Given the description of an element on the screen output the (x, y) to click on. 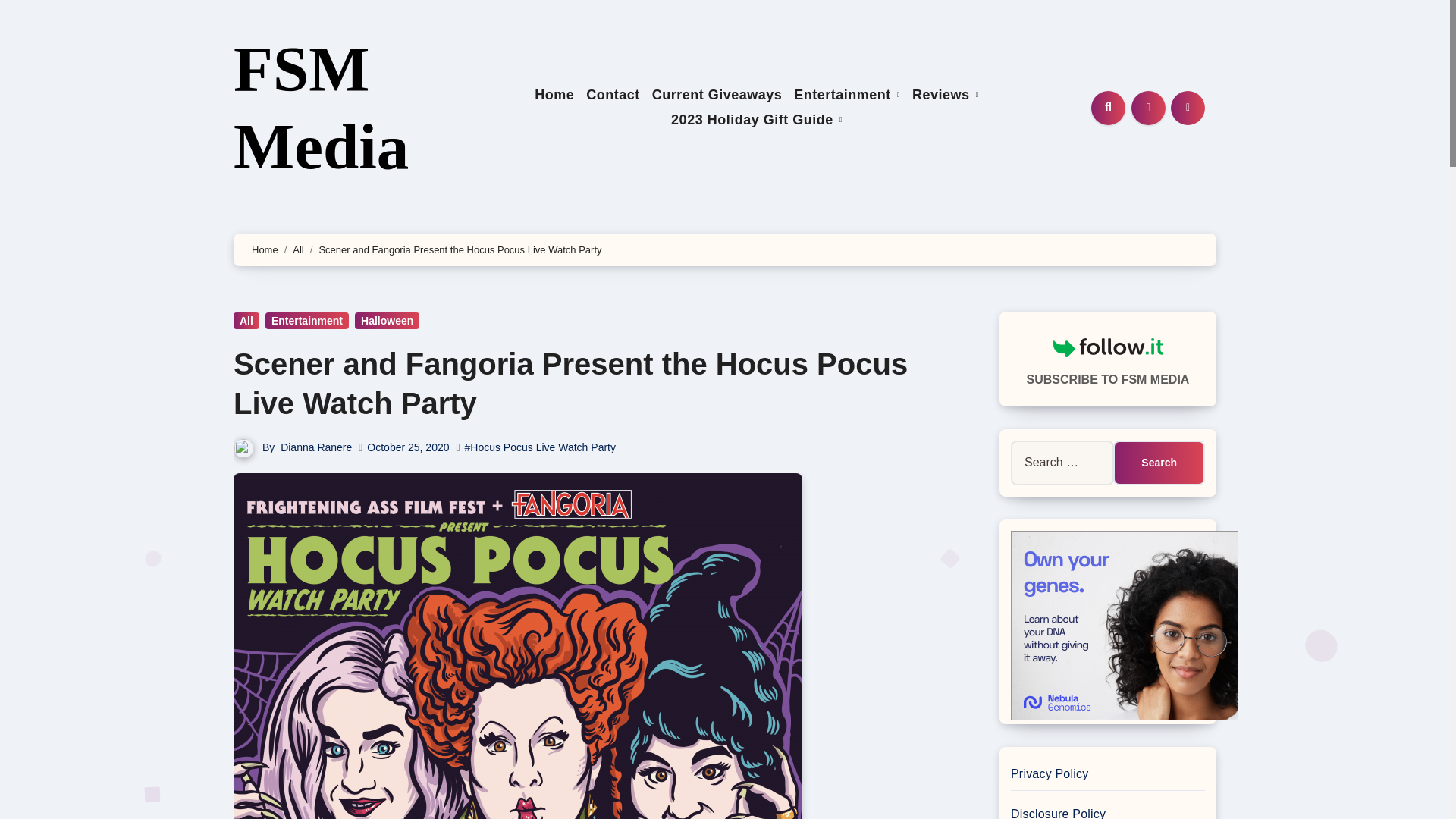
Home (553, 95)
Contact (612, 95)
2023 Holiday Gift Guide (756, 119)
2023 Holiday Gift Guide (756, 119)
All (245, 320)
FSM Media (320, 107)
Current Giveaways (717, 95)
Entertainment (846, 95)
Dianna Ranere (316, 447)
Scener and Fangoria Present the Hocus Pocus Live Watch Party (569, 383)
Reviews (945, 95)
Search (1159, 462)
Halloween (387, 320)
Home (553, 95)
Entertainment (306, 320)
